Given the description of an element on the screen output the (x, y) to click on. 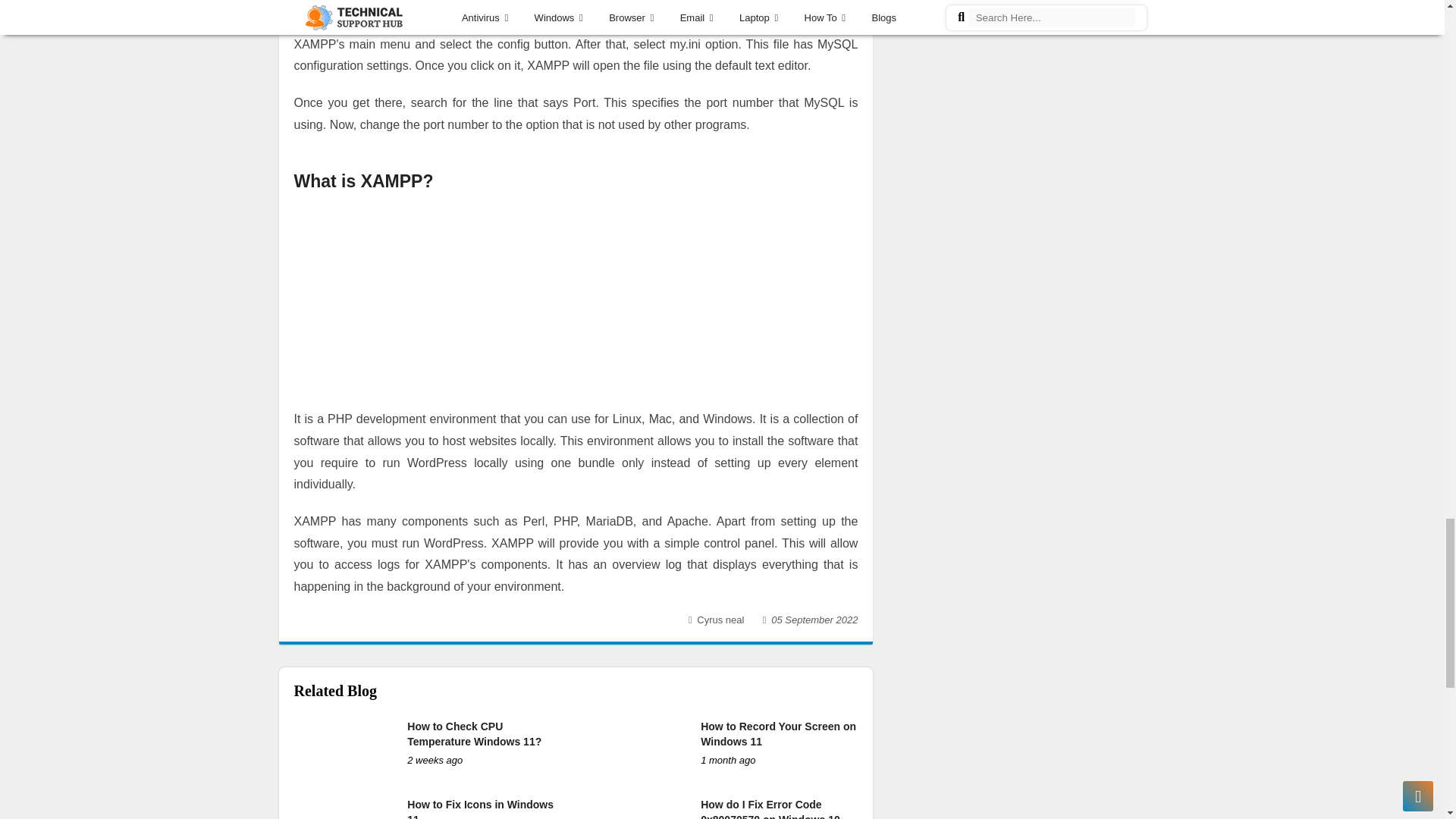
How to Record Your Screen on Windows 11 (778, 733)
How do I Fix Error Code 0x80070570 on Windows 10 (770, 808)
How to Check CPU Temperature Windows 11? (474, 733)
How to Fix Icons in Windows 11 (480, 808)
